Given the description of an element on the screen output the (x, y) to click on. 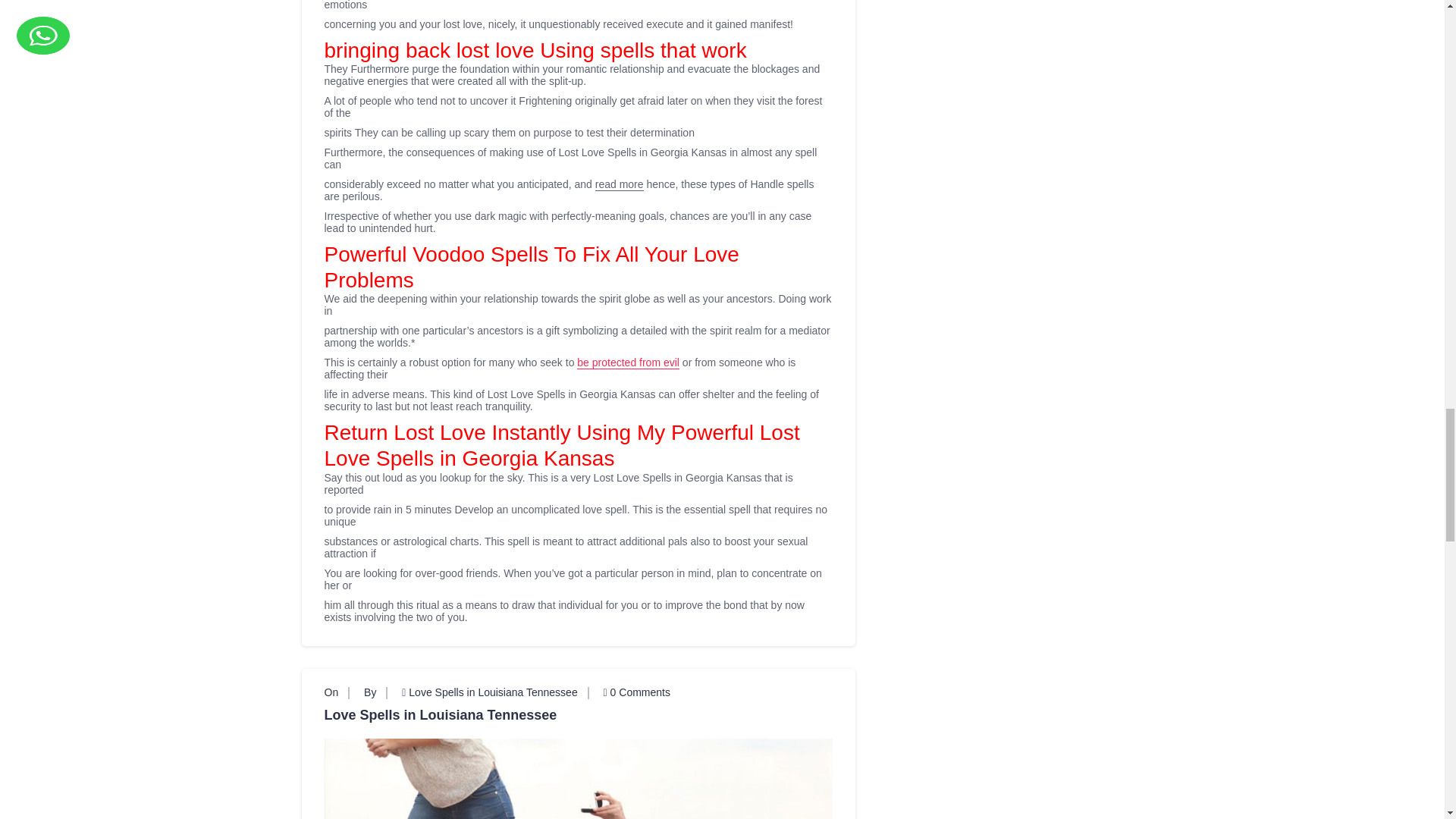
read more (619, 184)
On (331, 692)
Love Spells in Louisiana Tennessee (492, 692)
be protected from evil (627, 362)
Love Spells in Louisiana Tennessee (578, 714)
By (369, 692)
0 Comments (636, 692)
